Given the description of an element on the screen output the (x, y) to click on. 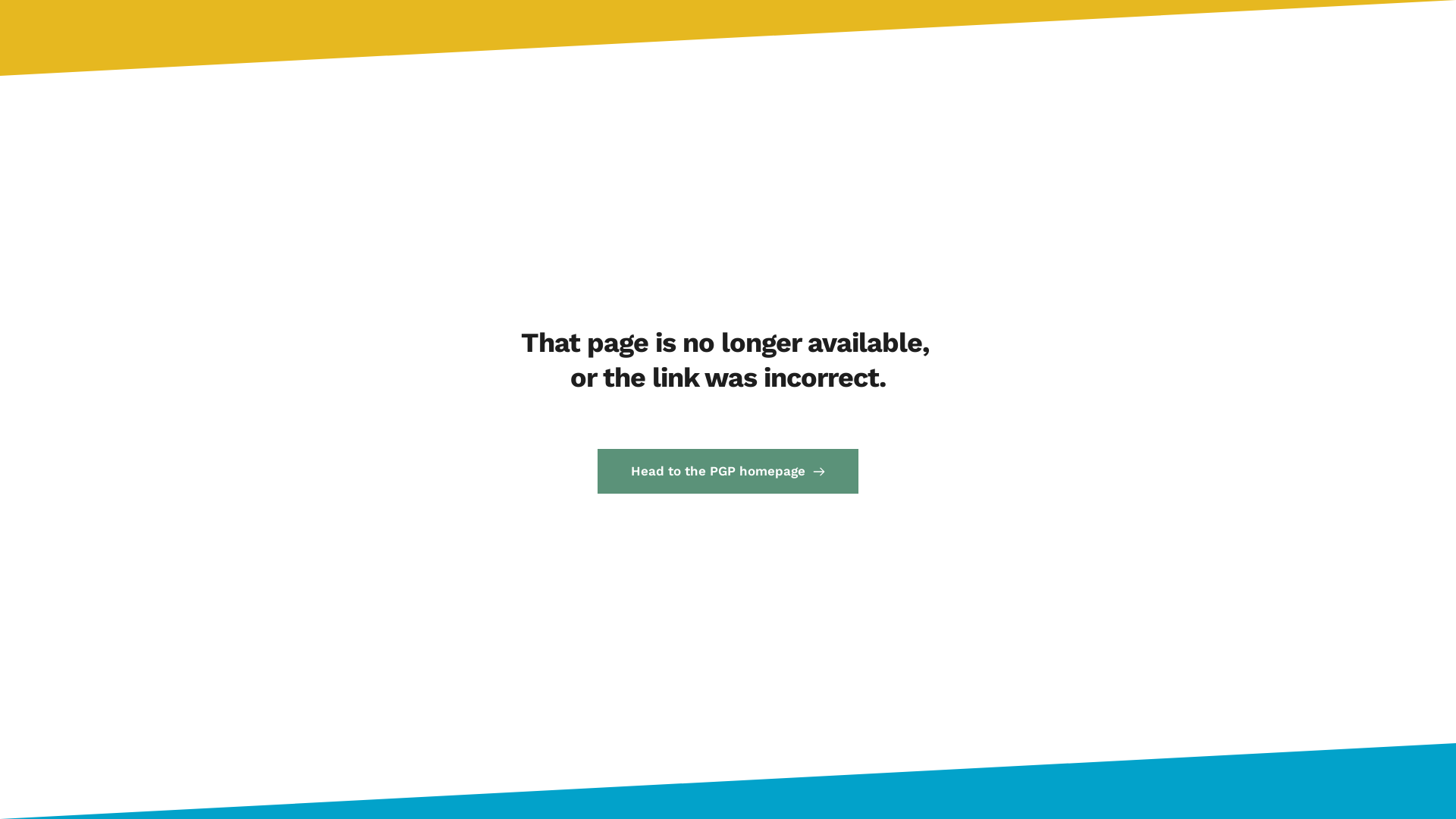
Head to the PGP homepage Element type: text (727, 470)
